Given the description of an element on the screen output the (x, y) to click on. 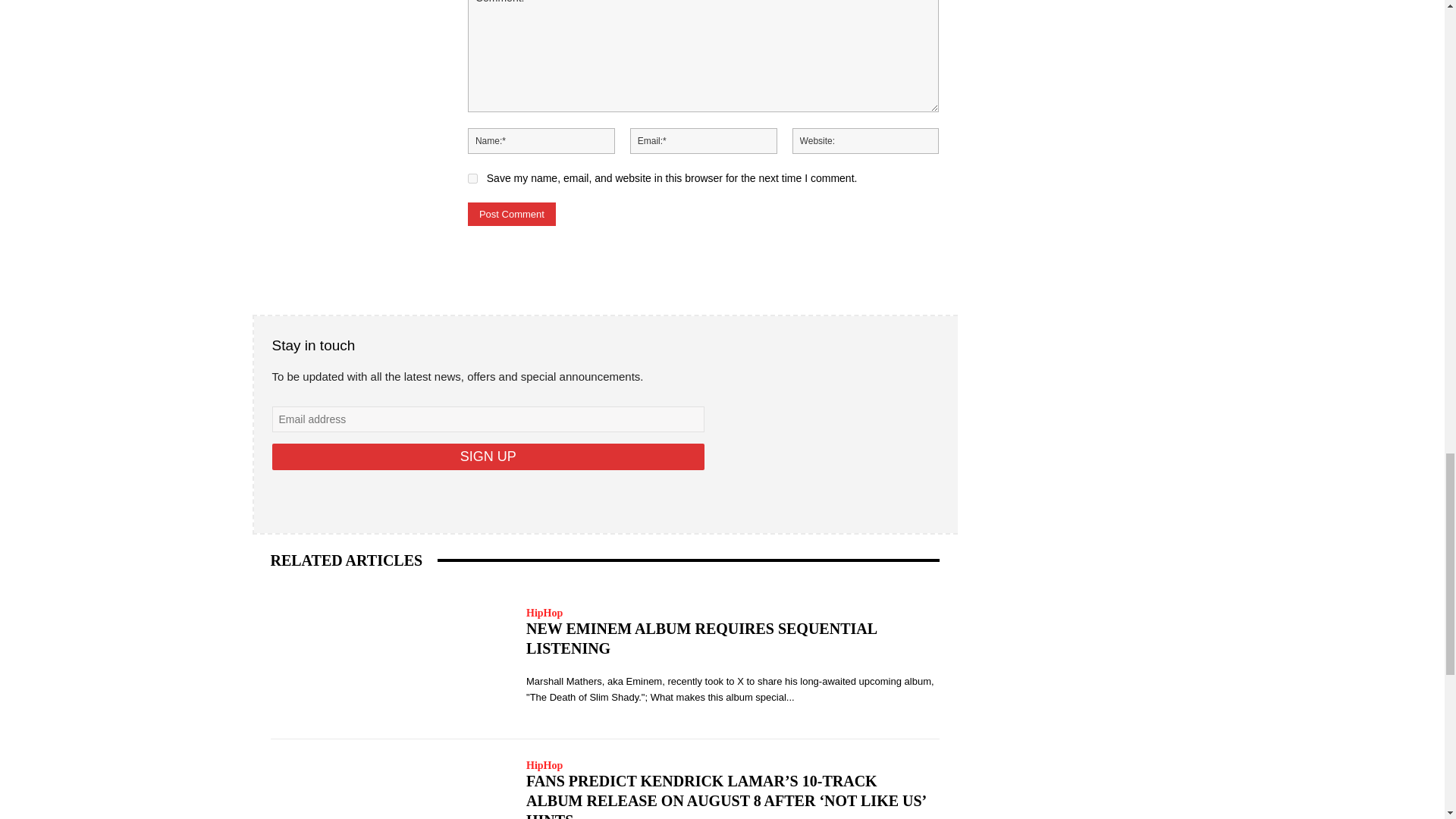
yes (472, 178)
Post Comment (511, 214)
